Given the description of an element on the screen output the (x, y) to click on. 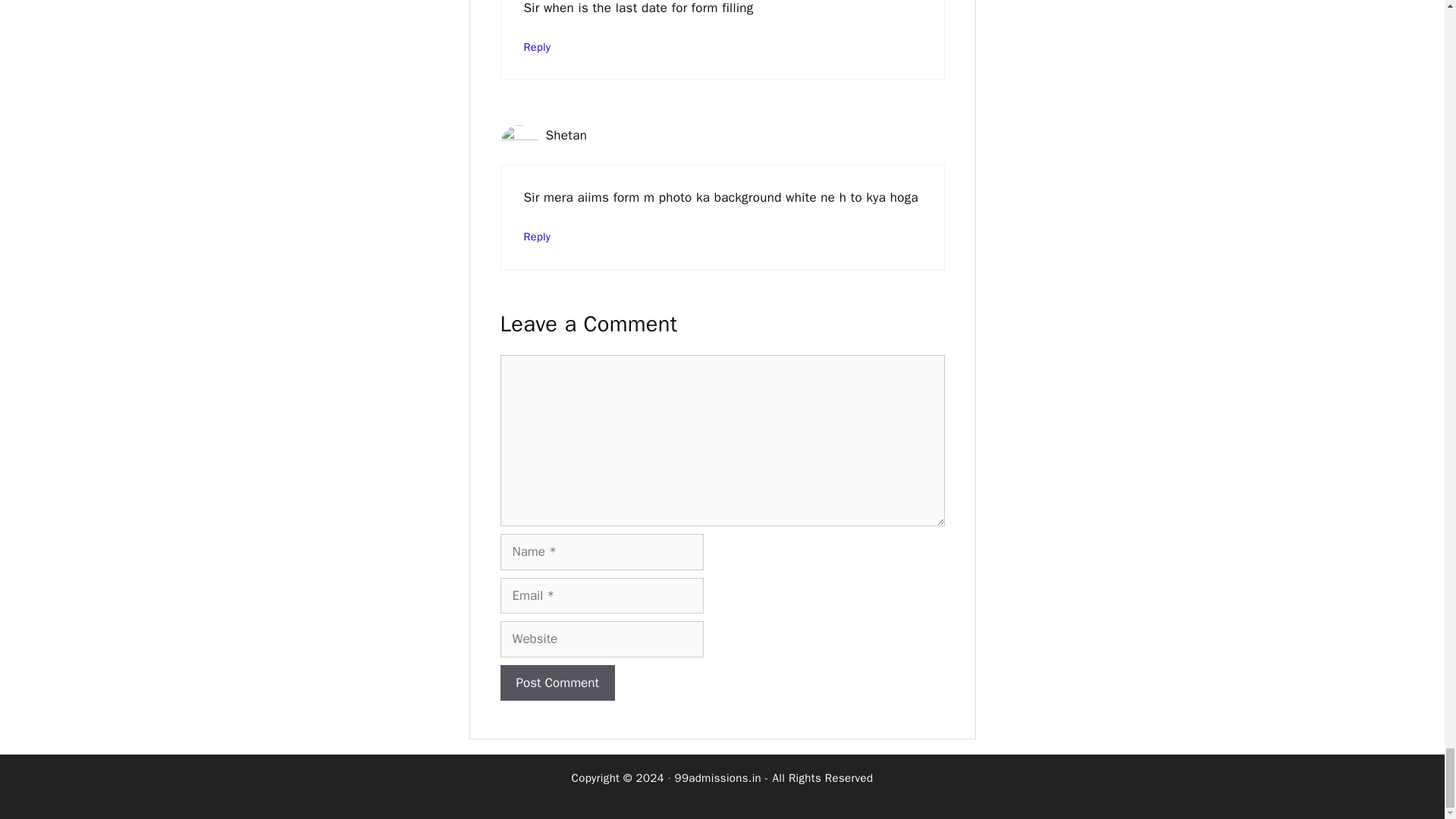
Reply (536, 236)
Post Comment (557, 683)
Post Comment (557, 683)
Reply (536, 47)
